Given the description of an element on the screen output the (x, y) to click on. 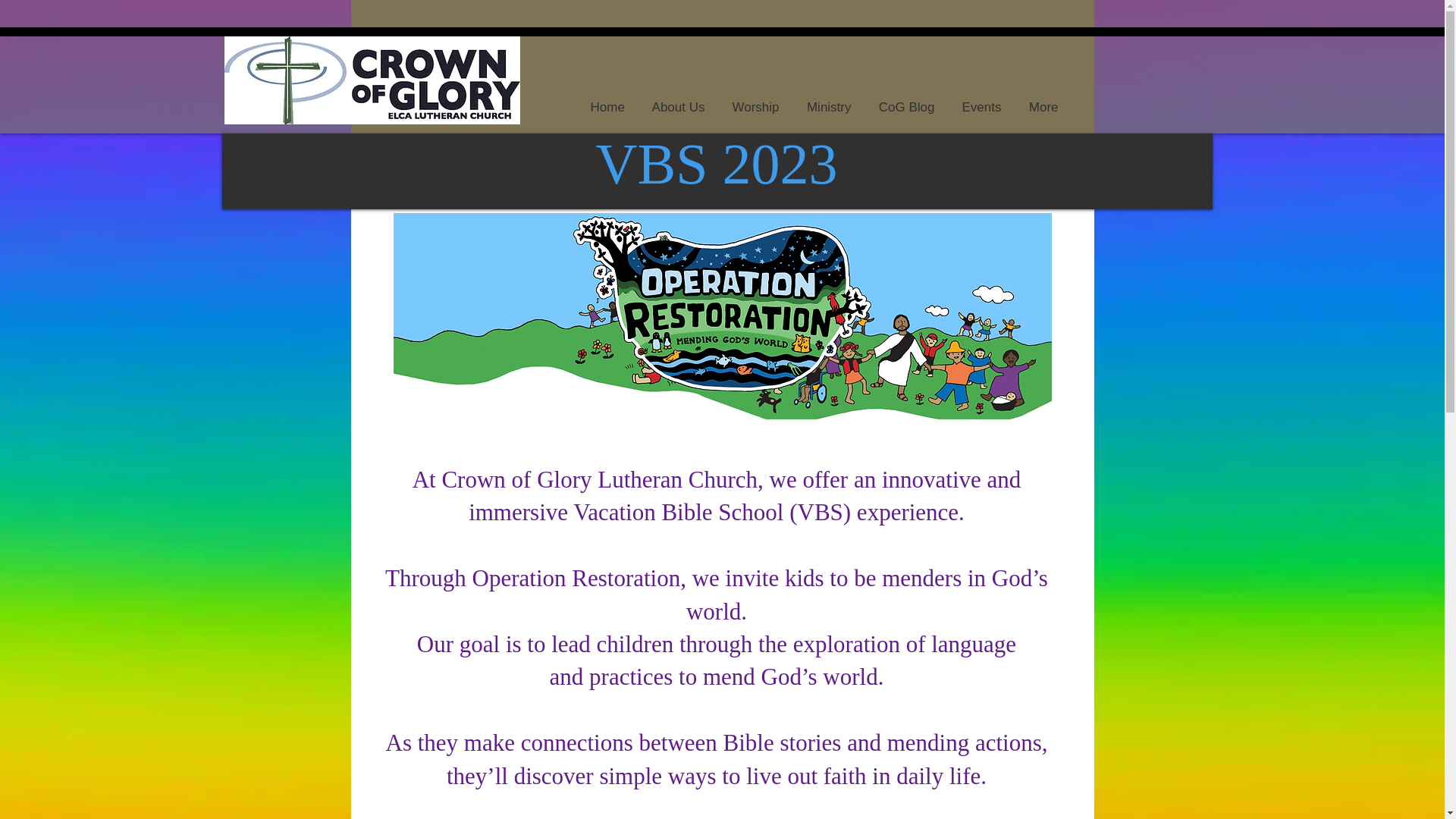
Home (606, 100)
Worship (756, 100)
CoG Blog (905, 100)
About Us (679, 100)
Ministry (828, 100)
Events (980, 100)
